Given the description of an element on the screen output the (x, y) to click on. 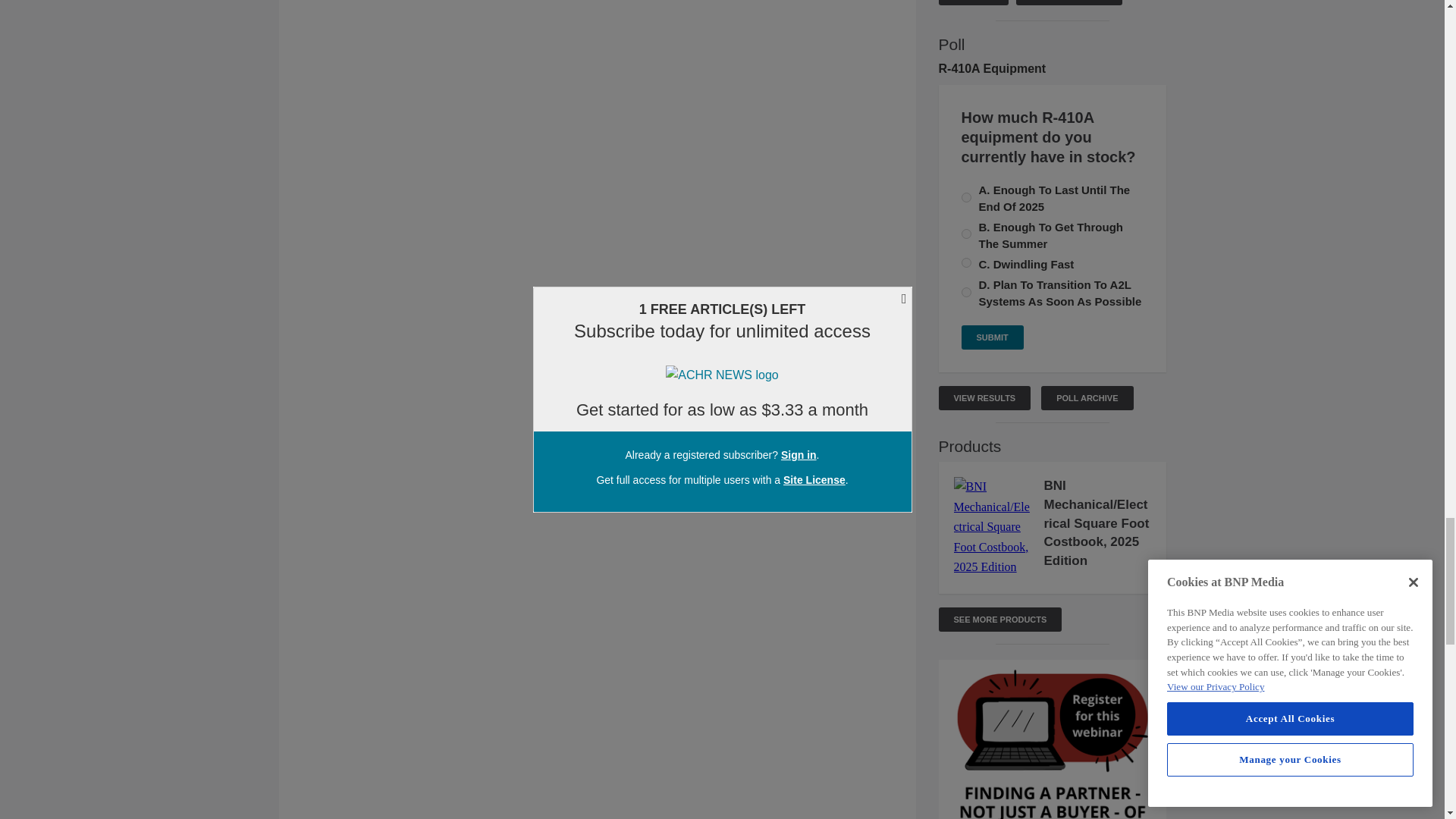
Submit (991, 337)
598 (965, 262)
599 (965, 292)
596 (965, 234)
597 (965, 197)
